Given the description of an element on the screen output the (x, y) to click on. 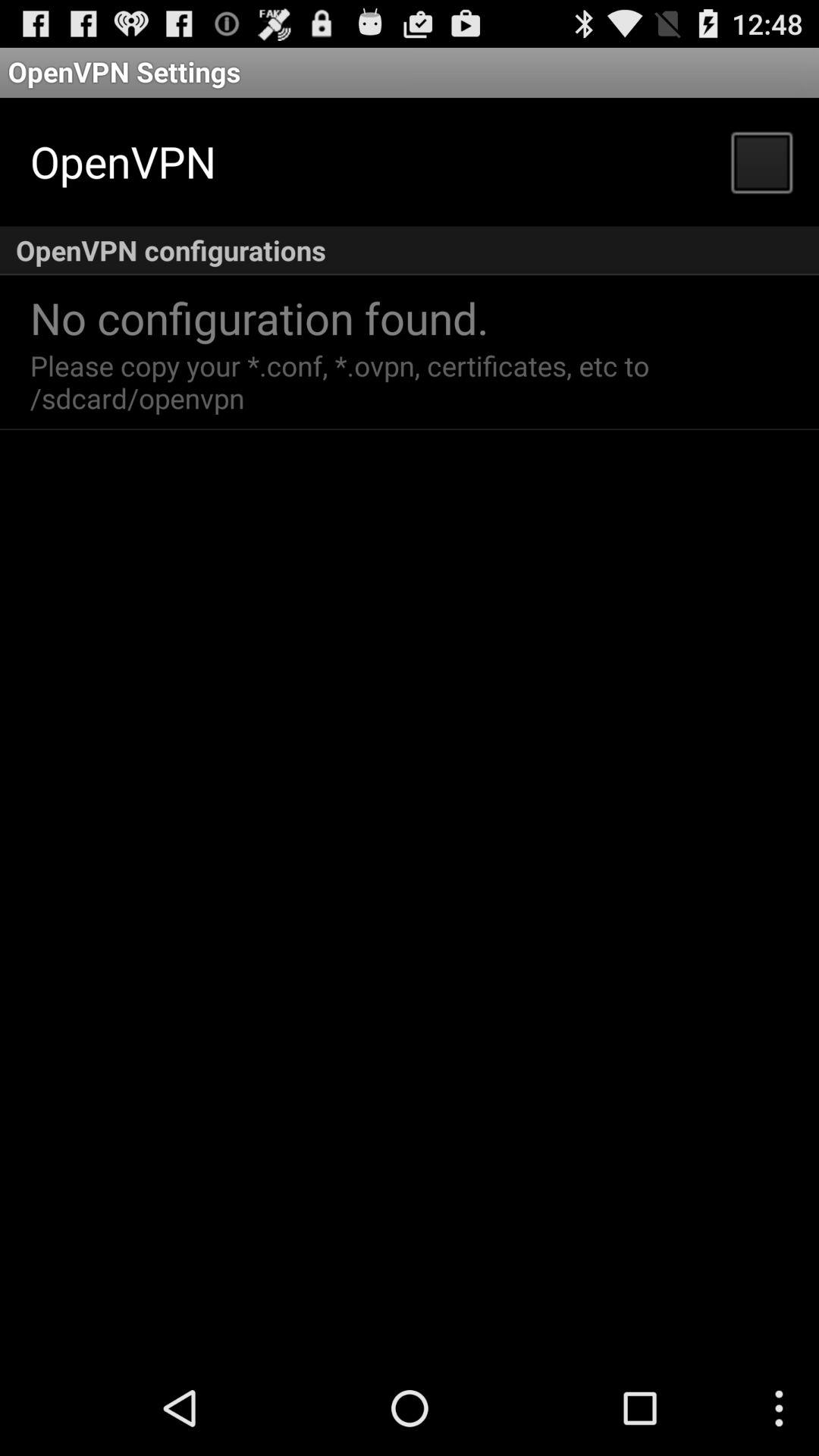
open the openvpn configurations item (409, 250)
